Given the description of an element on the screen output the (x, y) to click on. 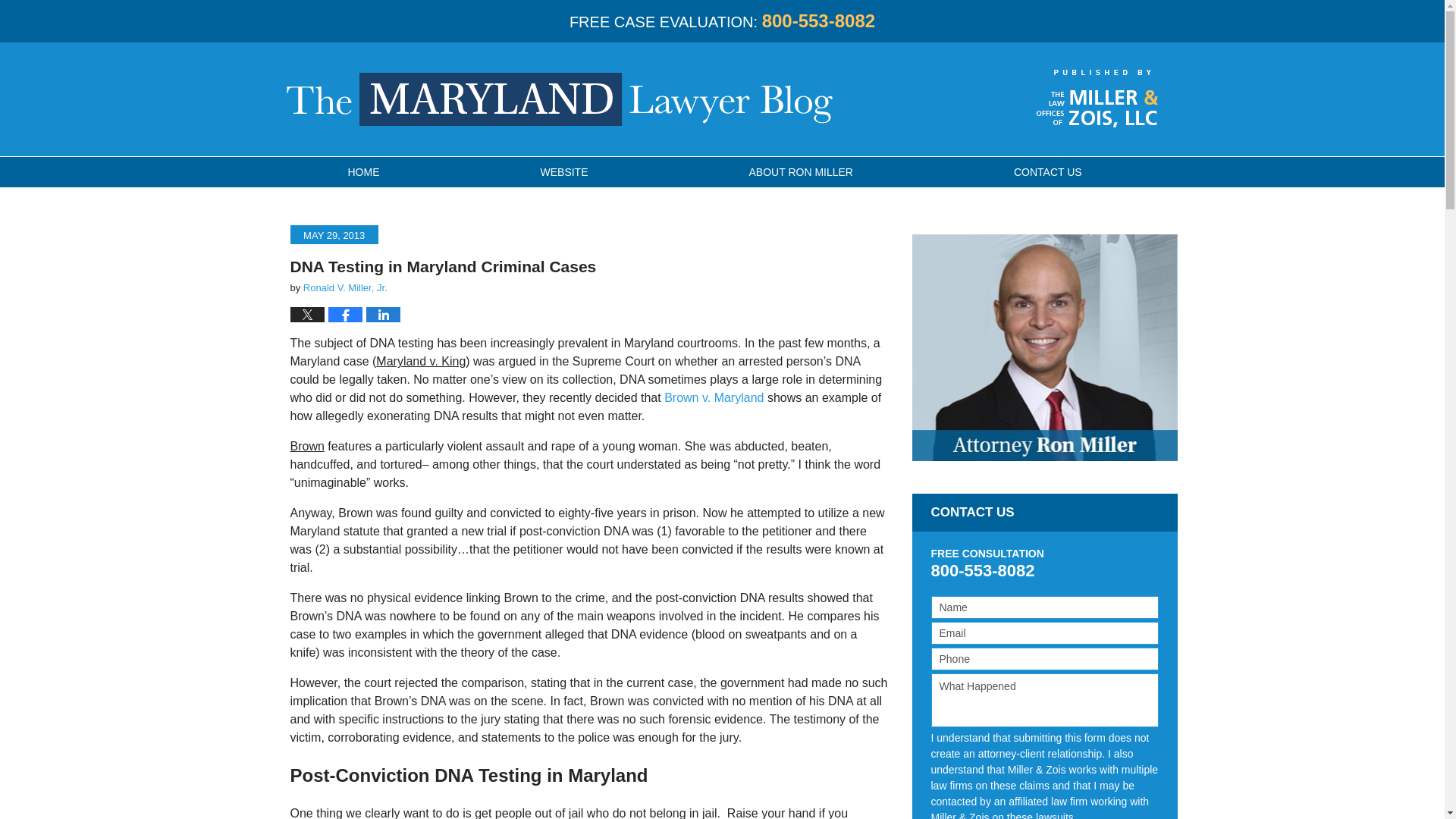
ABOUT RON MILLER (800, 172)
Brown v. Maryland (712, 397)
Ronald V. Miller, Jr. (344, 287)
WEBSITE (564, 172)
Maryland Lawyer Blog (559, 99)
CONTACT US (1047, 172)
HOME (363, 172)
